Given the description of an element on the screen output the (x, y) to click on. 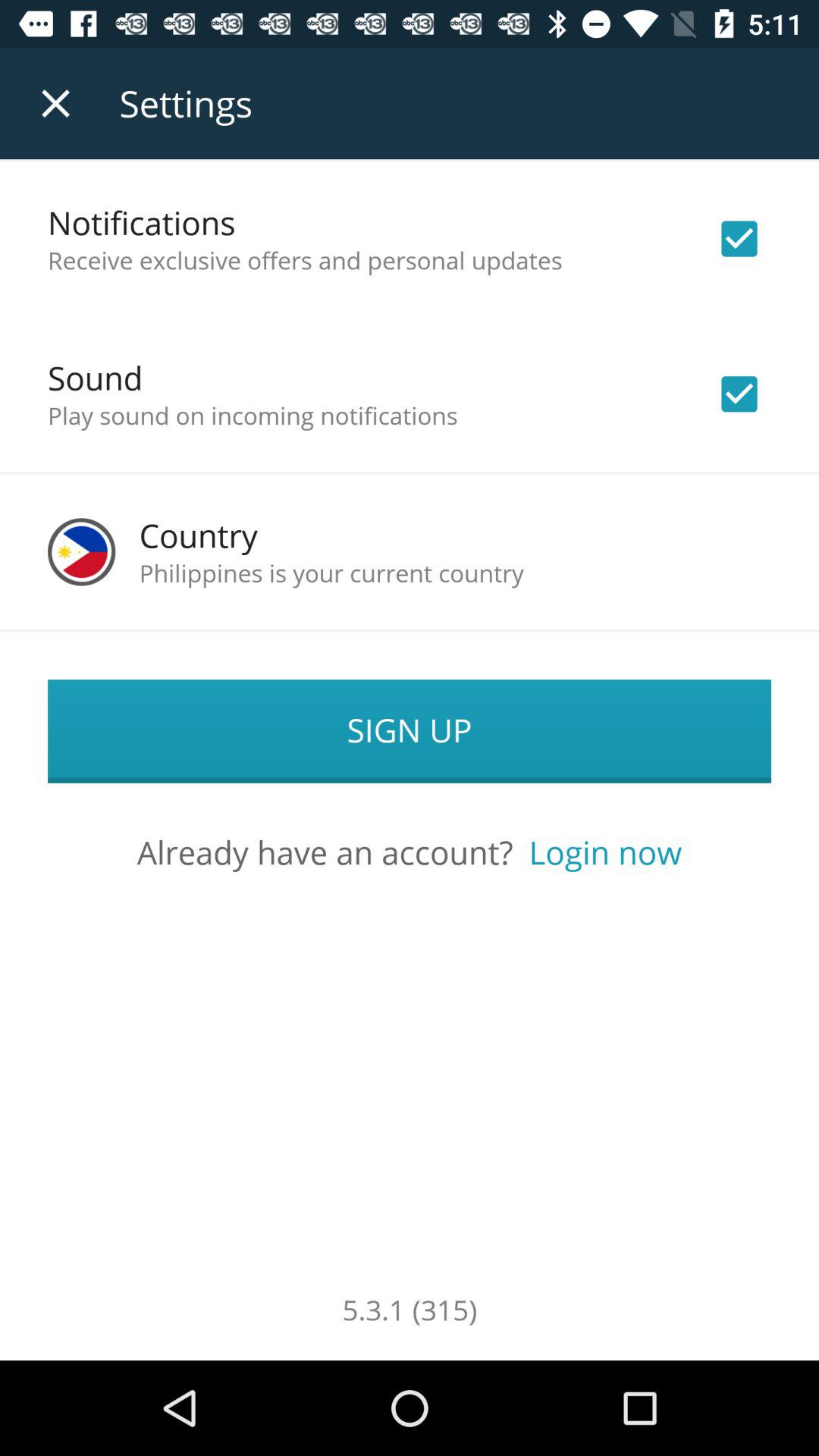
press icon above 5 3 1 item (604, 851)
